Given the description of an element on the screen output the (x, y) to click on. 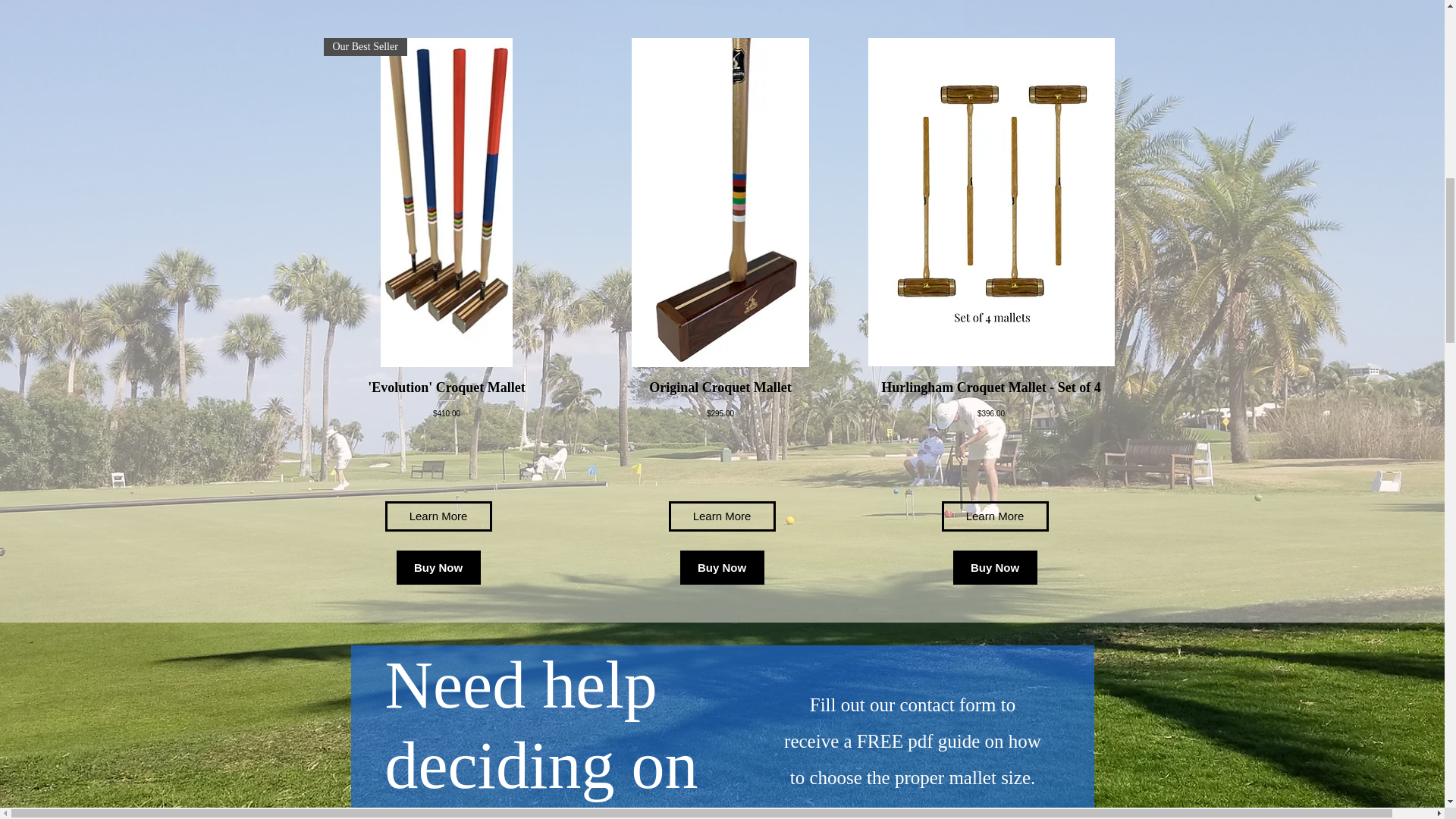
Learn More (438, 516)
Buy Now (720, 567)
Buy Now (994, 567)
Learn More (722, 516)
Learn More (995, 516)
Buy Now (438, 567)
